Given the description of an element on the screen output the (x, y) to click on. 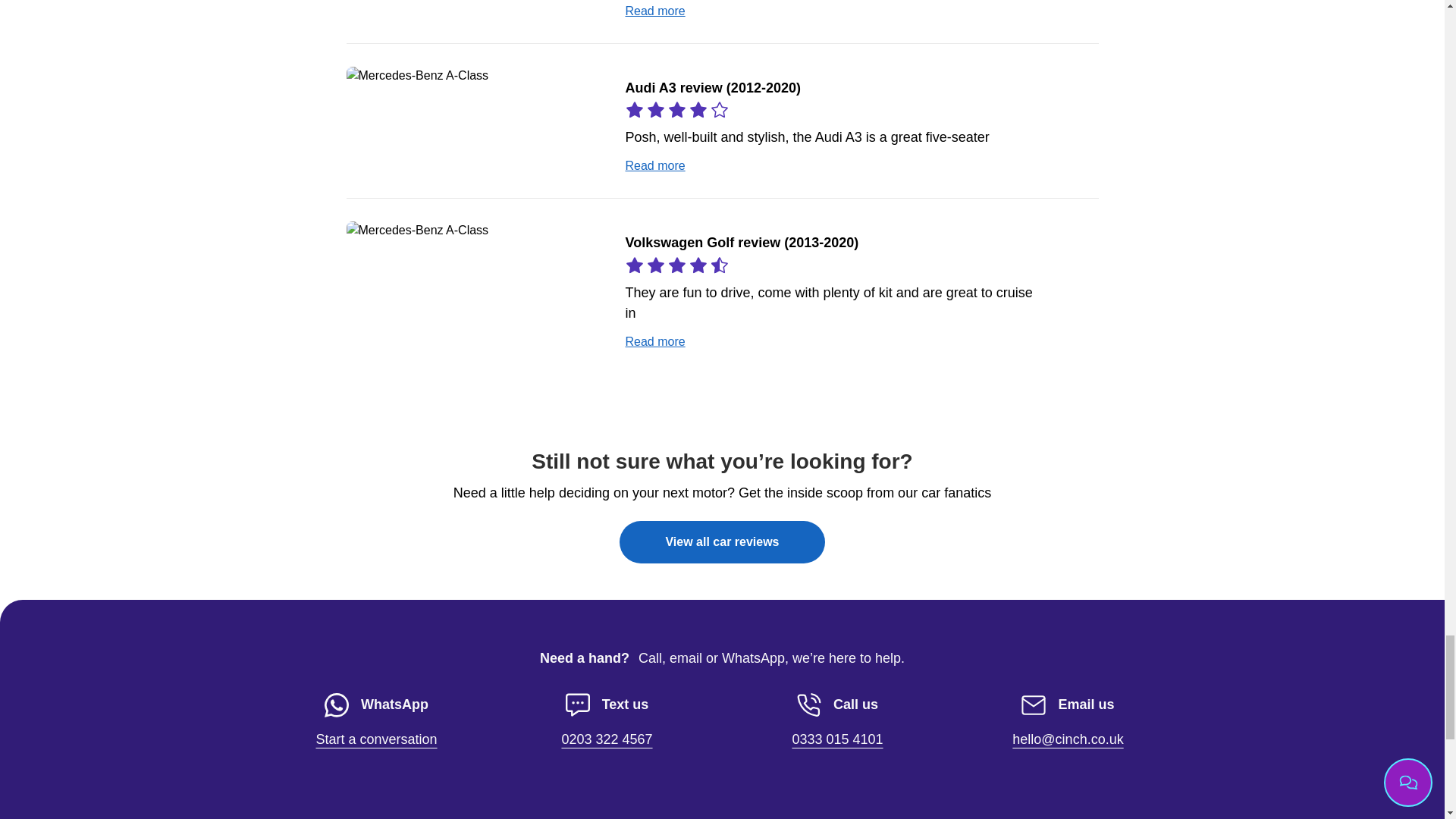
Read more (606, 721)
View all car reviews (654, 10)
Read more (722, 541)
Read more (654, 164)
